Given the description of an element on the screen output the (x, y) to click on. 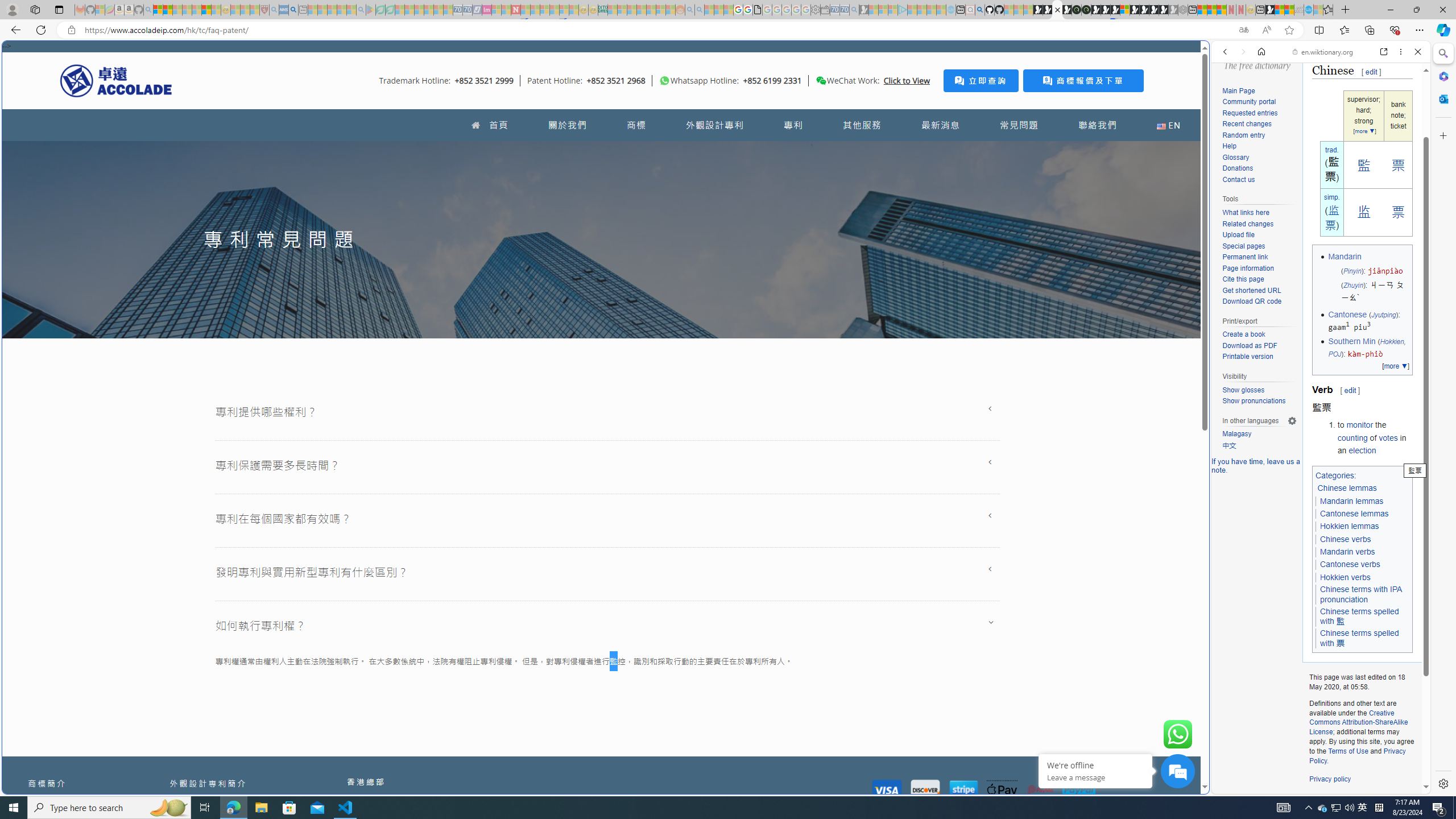
Mandarin (1344, 256)
Frequently visited (965, 151)
Glossary (1235, 157)
Printable version (1259, 356)
